Given the description of an element on the screen output the (x, y) to click on. 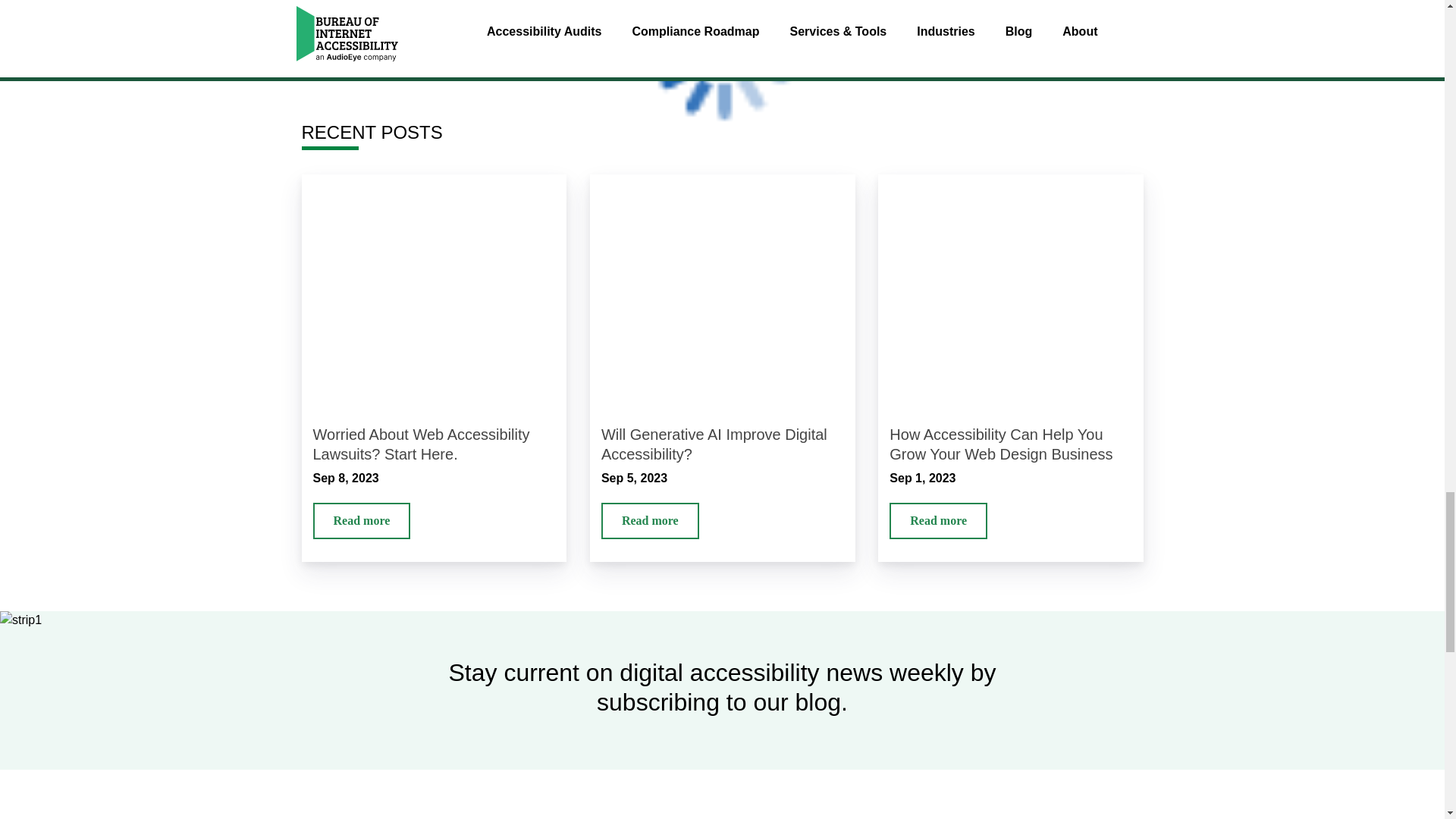
Publish Date (433, 478)
Publish Date (722, 478)
Publish Date (1010, 478)
